Given the description of an element on the screen output the (x, y) to click on. 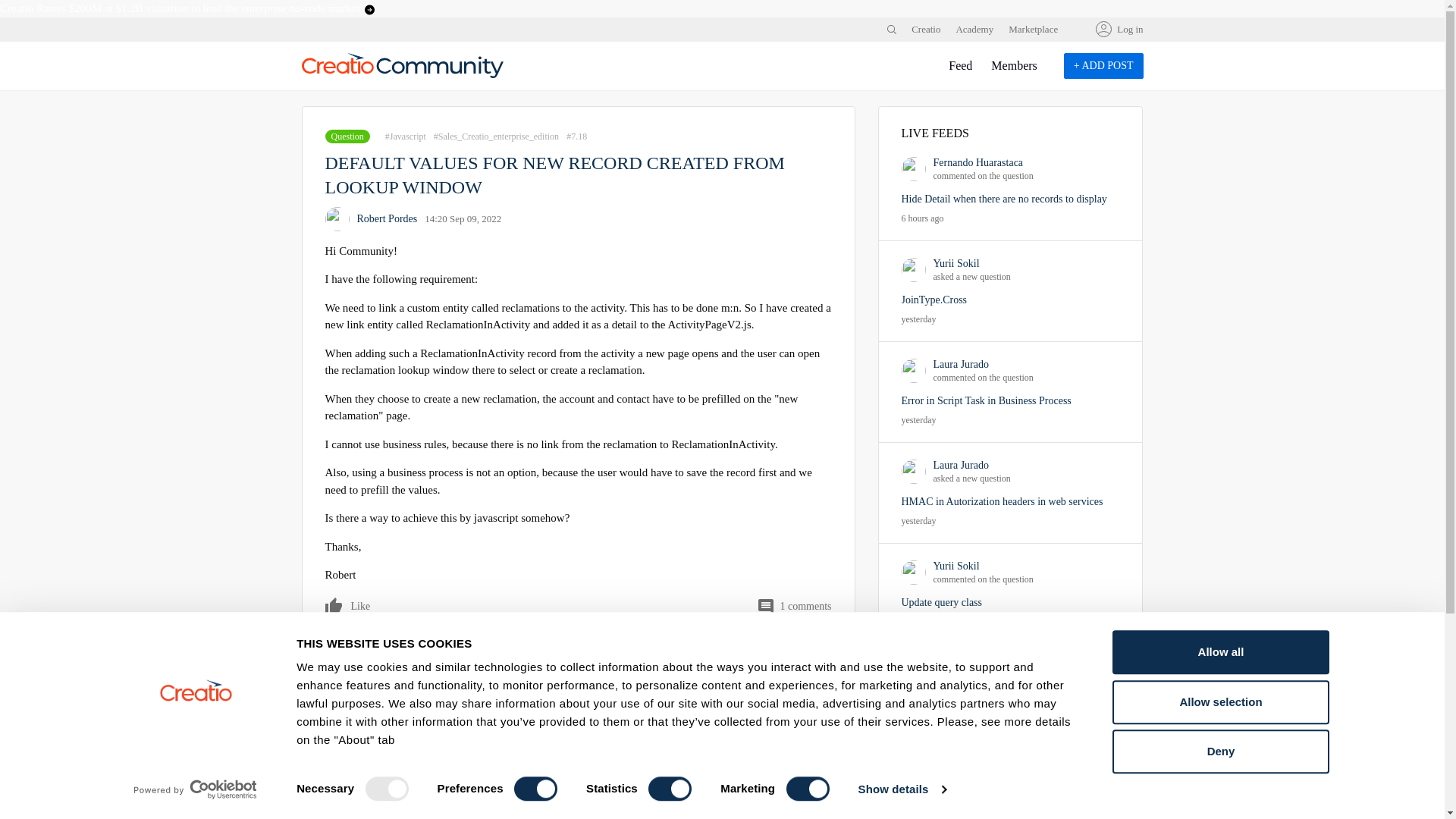
Show details (900, 789)
